Given the description of an element on the screen output the (x, y) to click on. 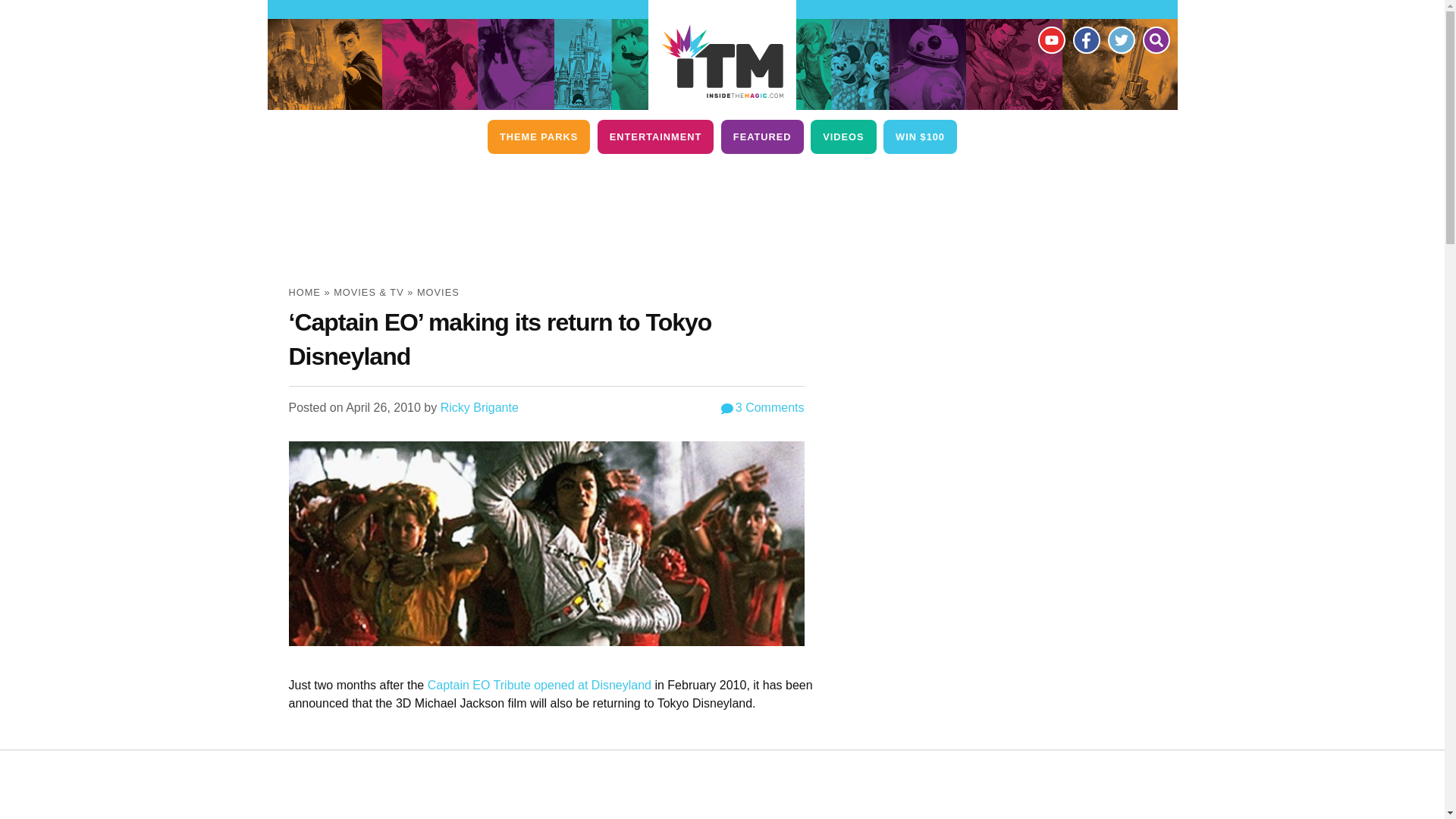
THEME PARKS (538, 136)
Search (1155, 40)
Twitter (1120, 40)
FEATURED (761, 136)
YouTube (1050, 40)
Facebook (1085, 40)
ENTERTAINMENT (655, 136)
